Given the description of an element on the screen output the (x, y) to click on. 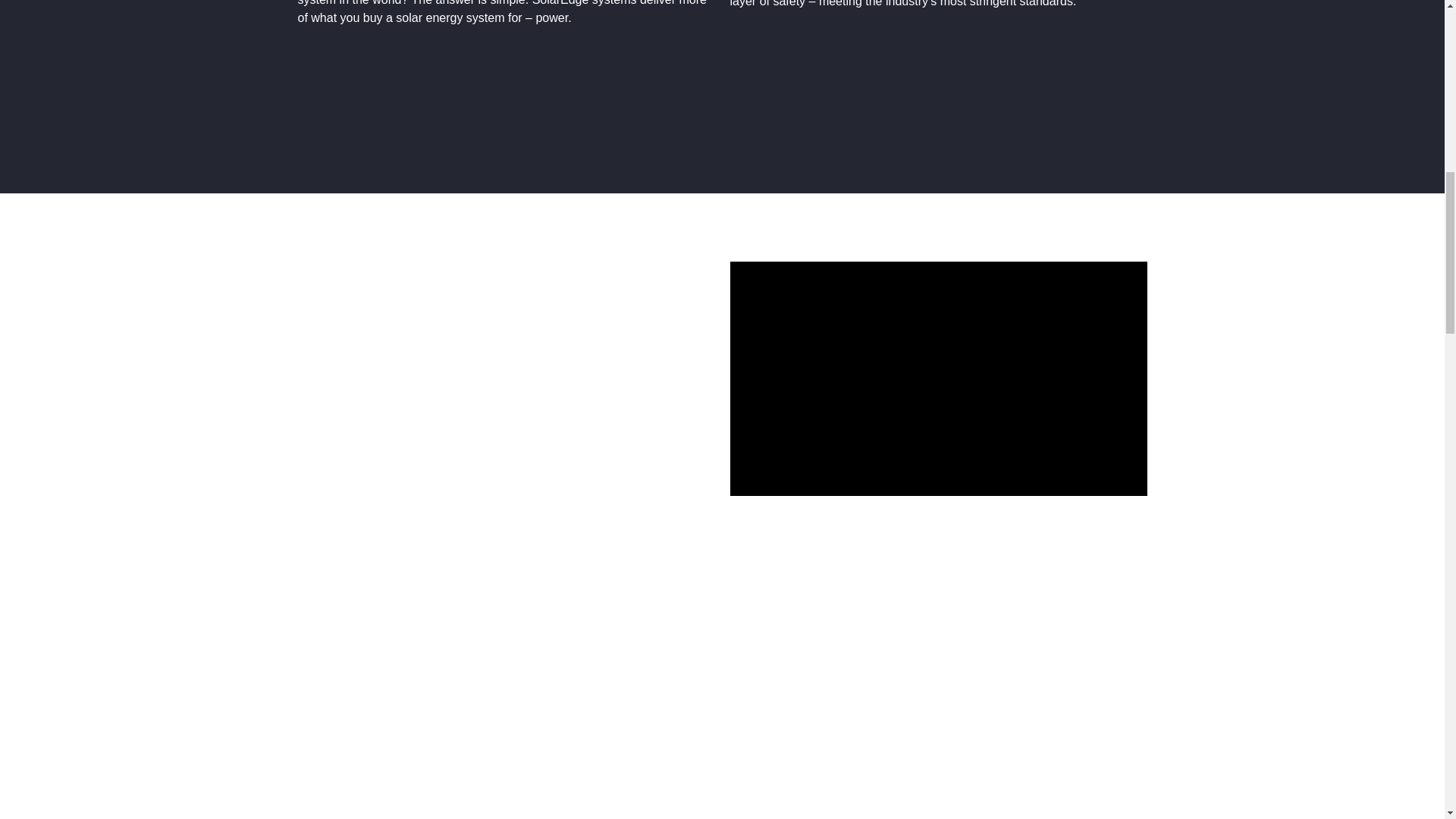
vimeo Video Player (938, 378)
